Given the description of an element on the screen output the (x, y) to click on. 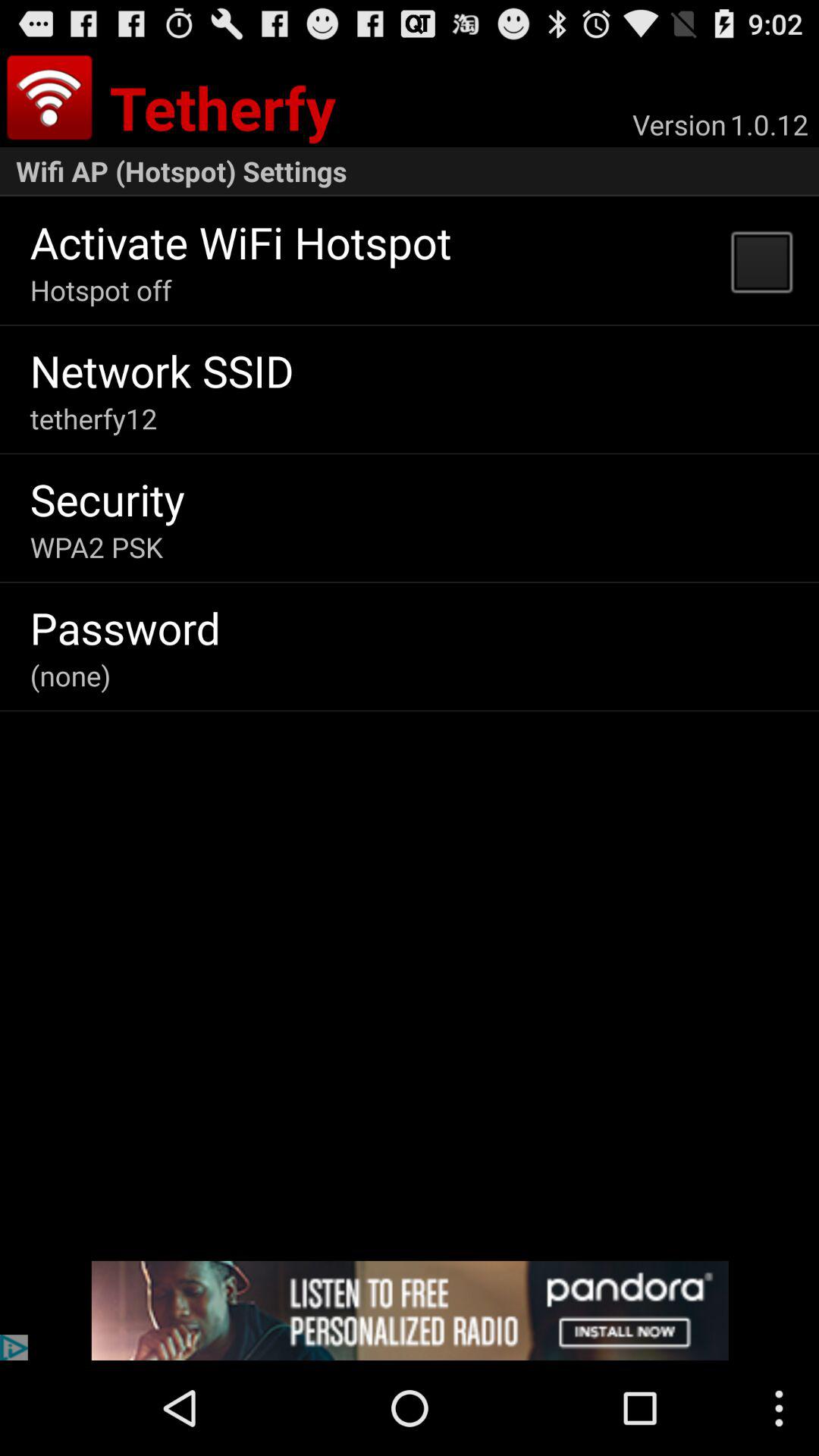
advertisement banner (409, 1310)
